Given the description of an element on the screen output the (x, y) to click on. 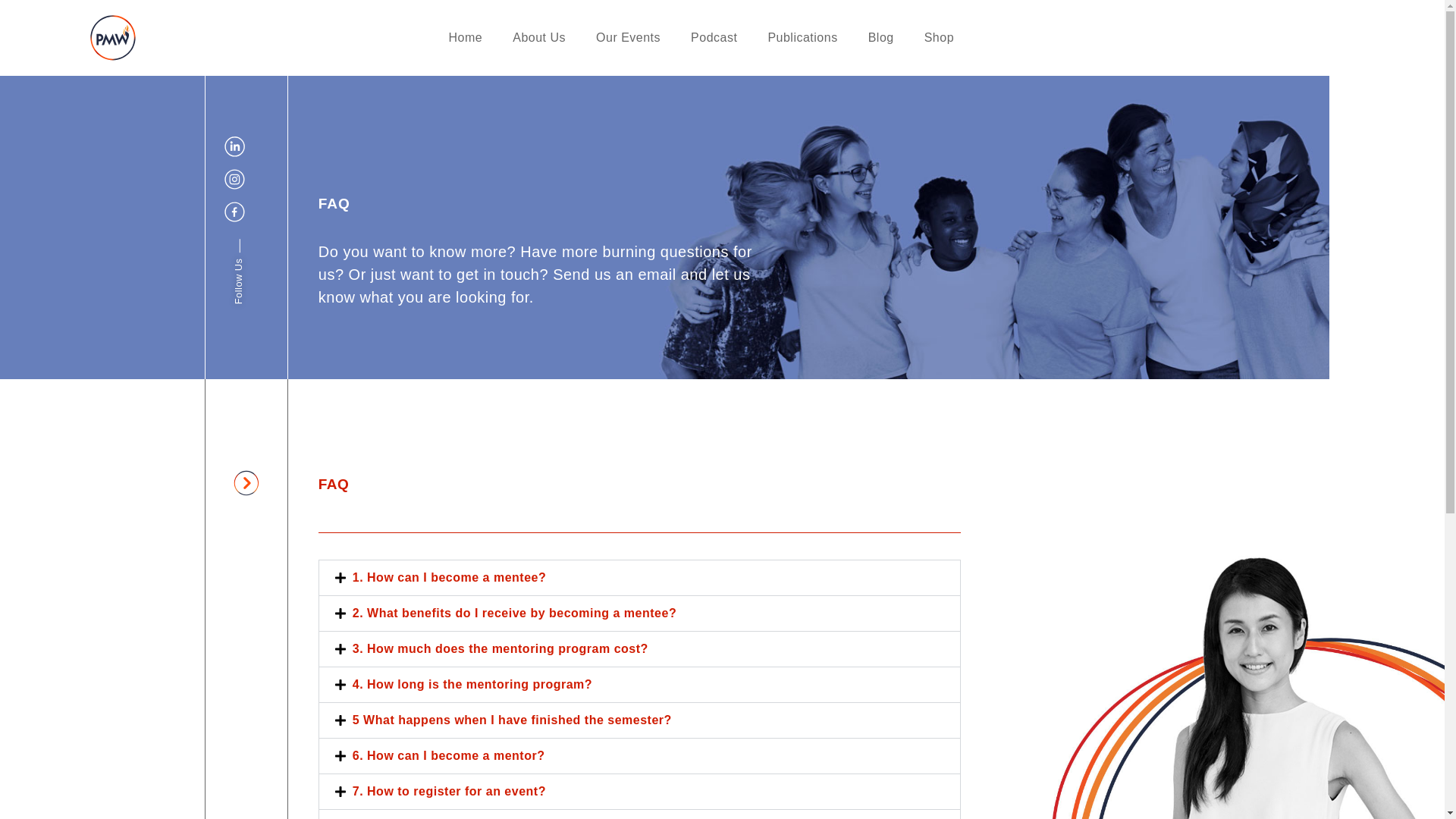
About Us (538, 37)
Our Events (627, 37)
Publications (801, 37)
arrow-pmw (245, 483)
Podcast (713, 37)
Blog (880, 37)
Home (465, 37)
Shop (938, 37)
